Given the description of an element on the screen output the (x, y) to click on. 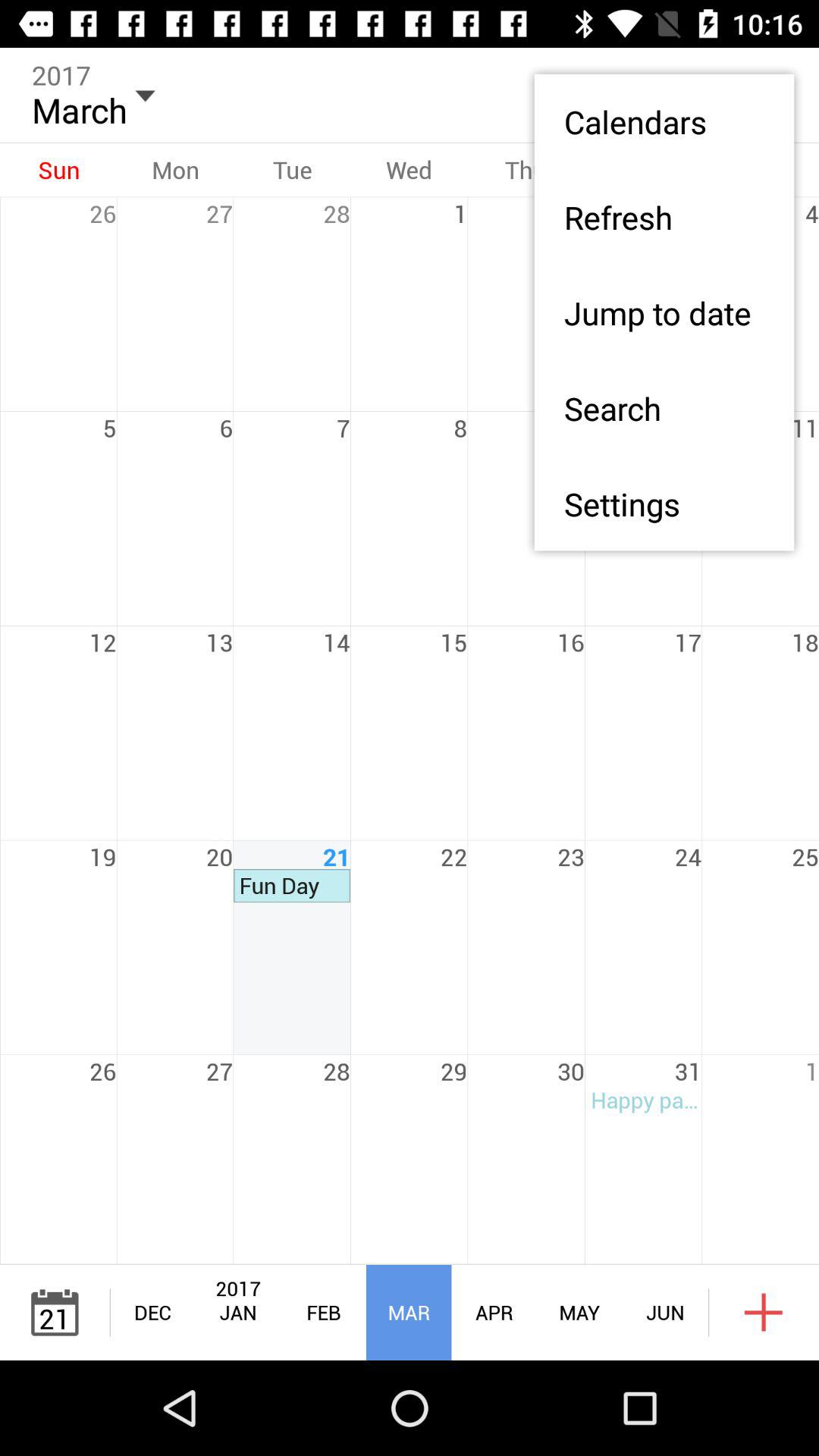
choose item above the jump to date item (664, 217)
